Given the description of an element on the screen output the (x, y) to click on. 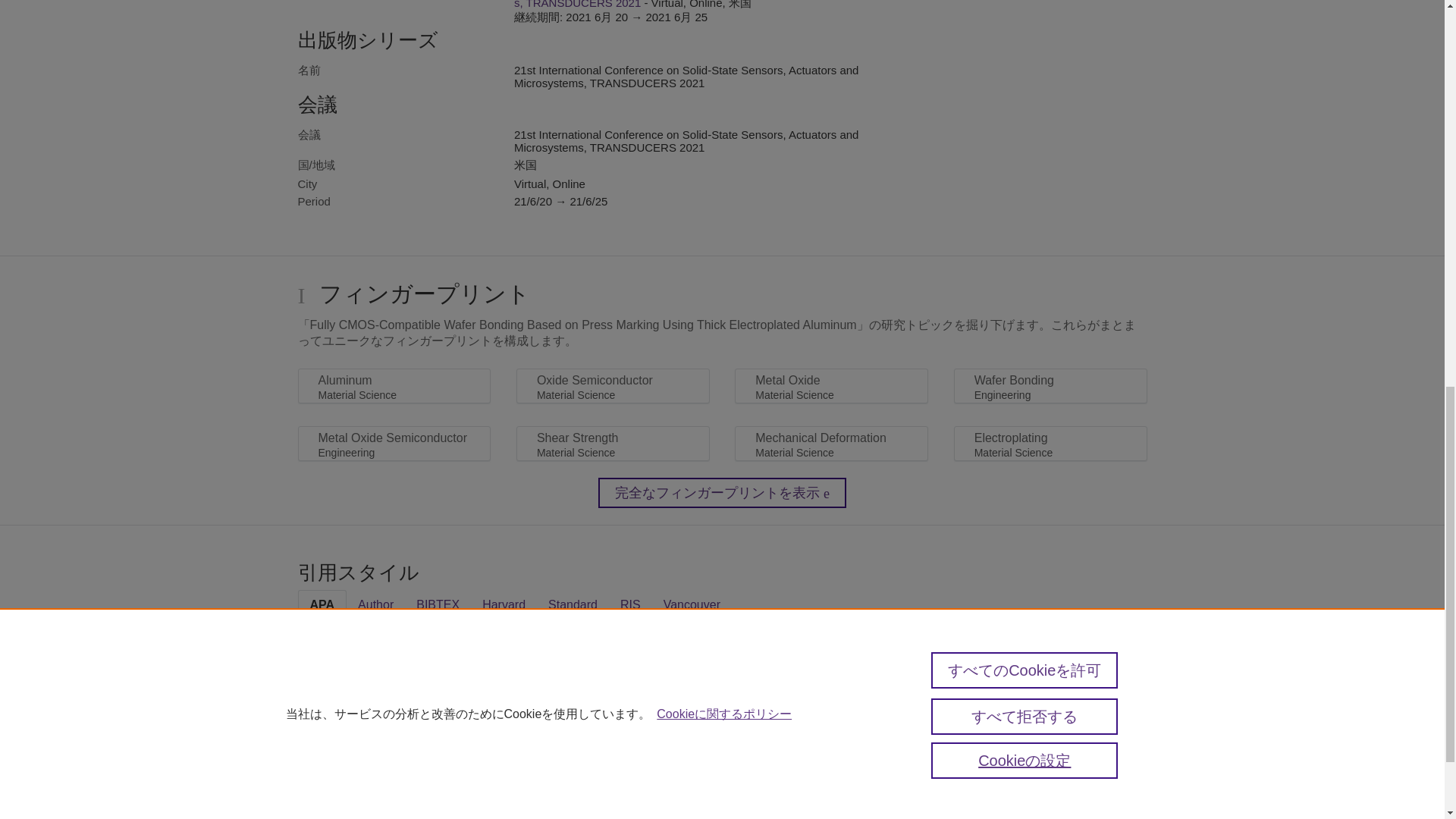
Elsevier B.V. (545, 816)
Pure (330, 797)
Scopus (362, 797)
